Given the description of an element on the screen output the (x, y) to click on. 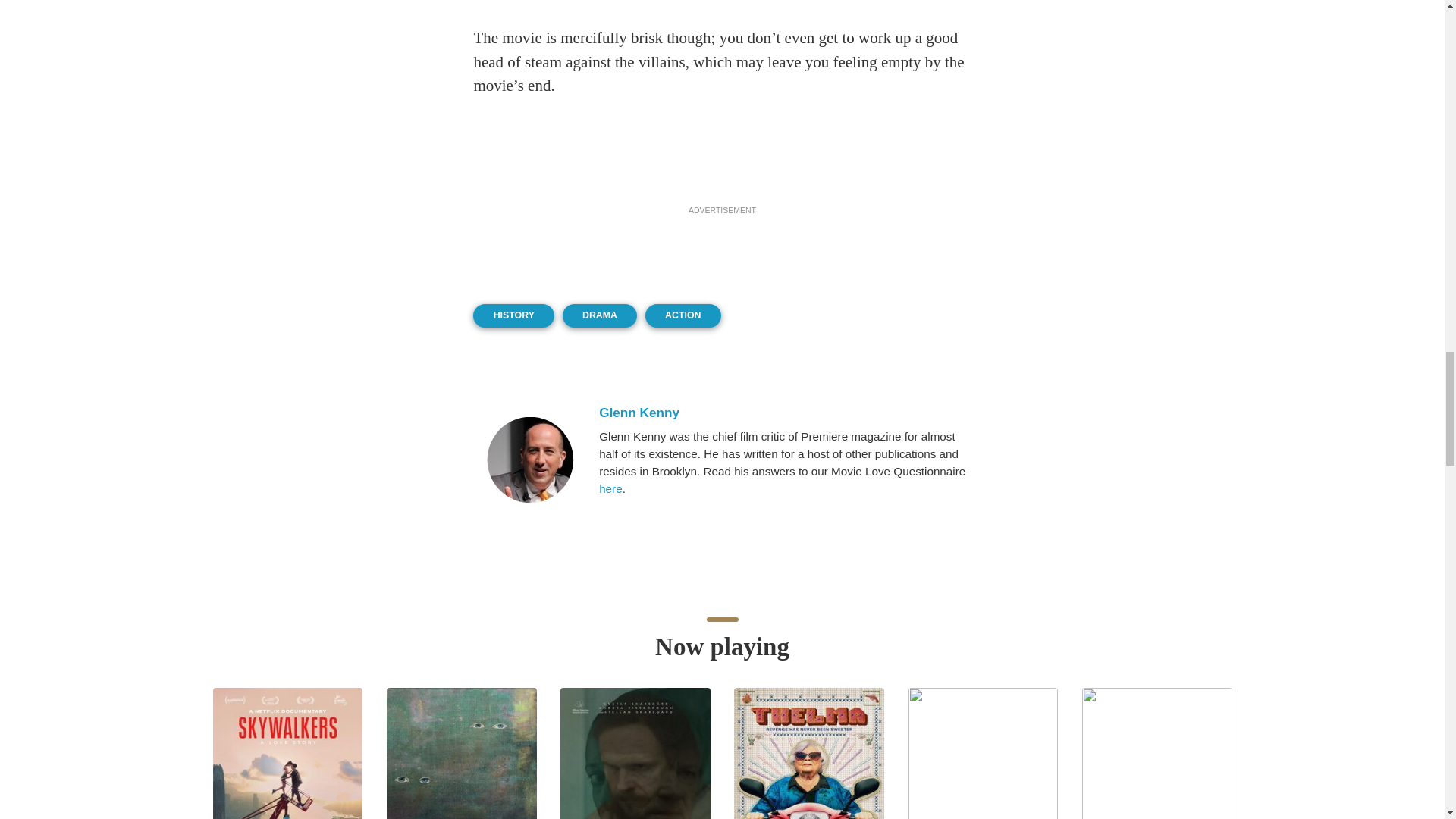
DRAMA (599, 315)
Glenn Kenny (529, 459)
HISTORY (513, 315)
Glenn Kenny (782, 412)
here (610, 488)
ACTION (682, 315)
